Given the description of an element on the screen output the (x, y) to click on. 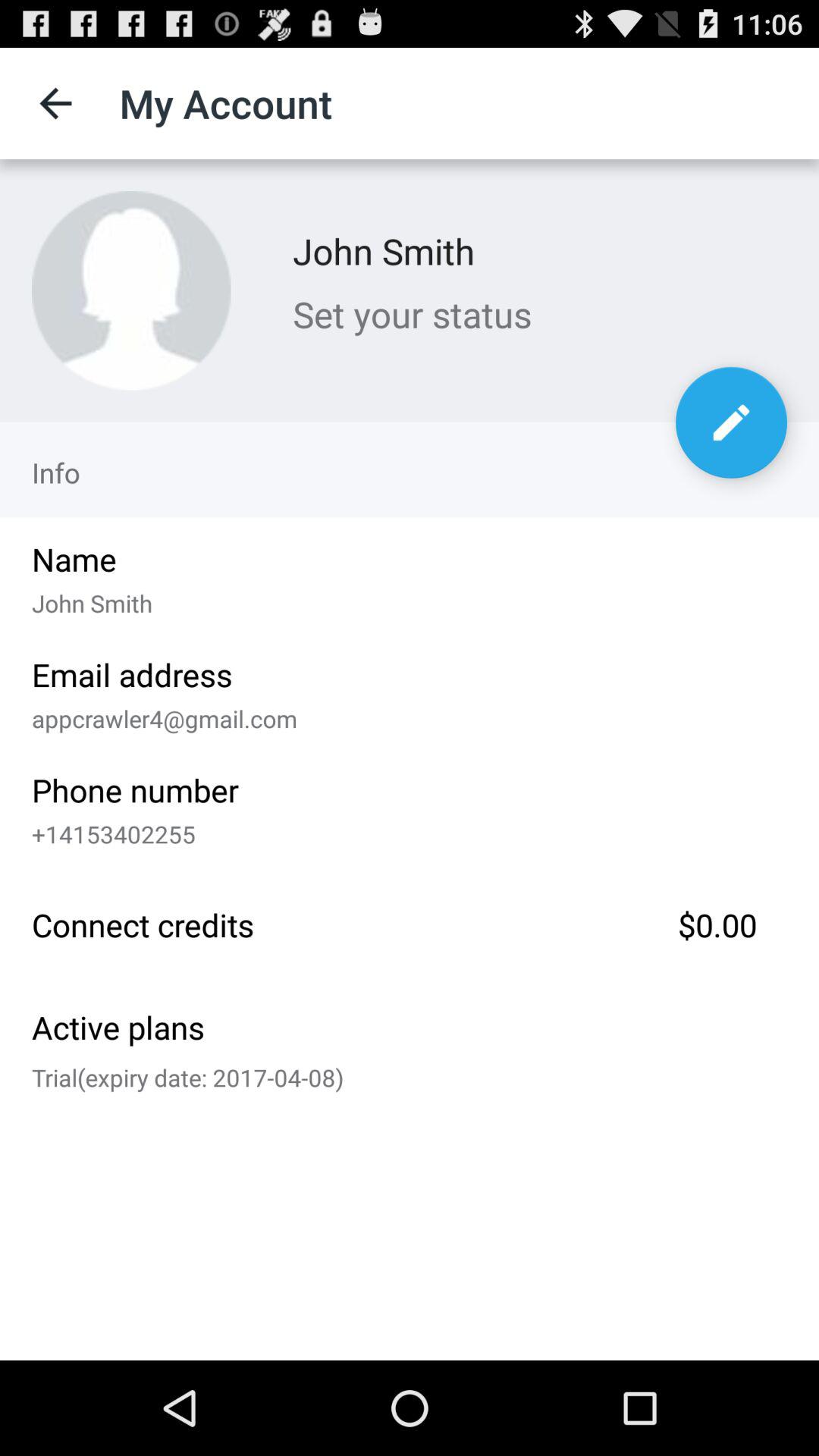
choose icon above info icon (130, 290)
